Given the description of an element on the screen output the (x, y) to click on. 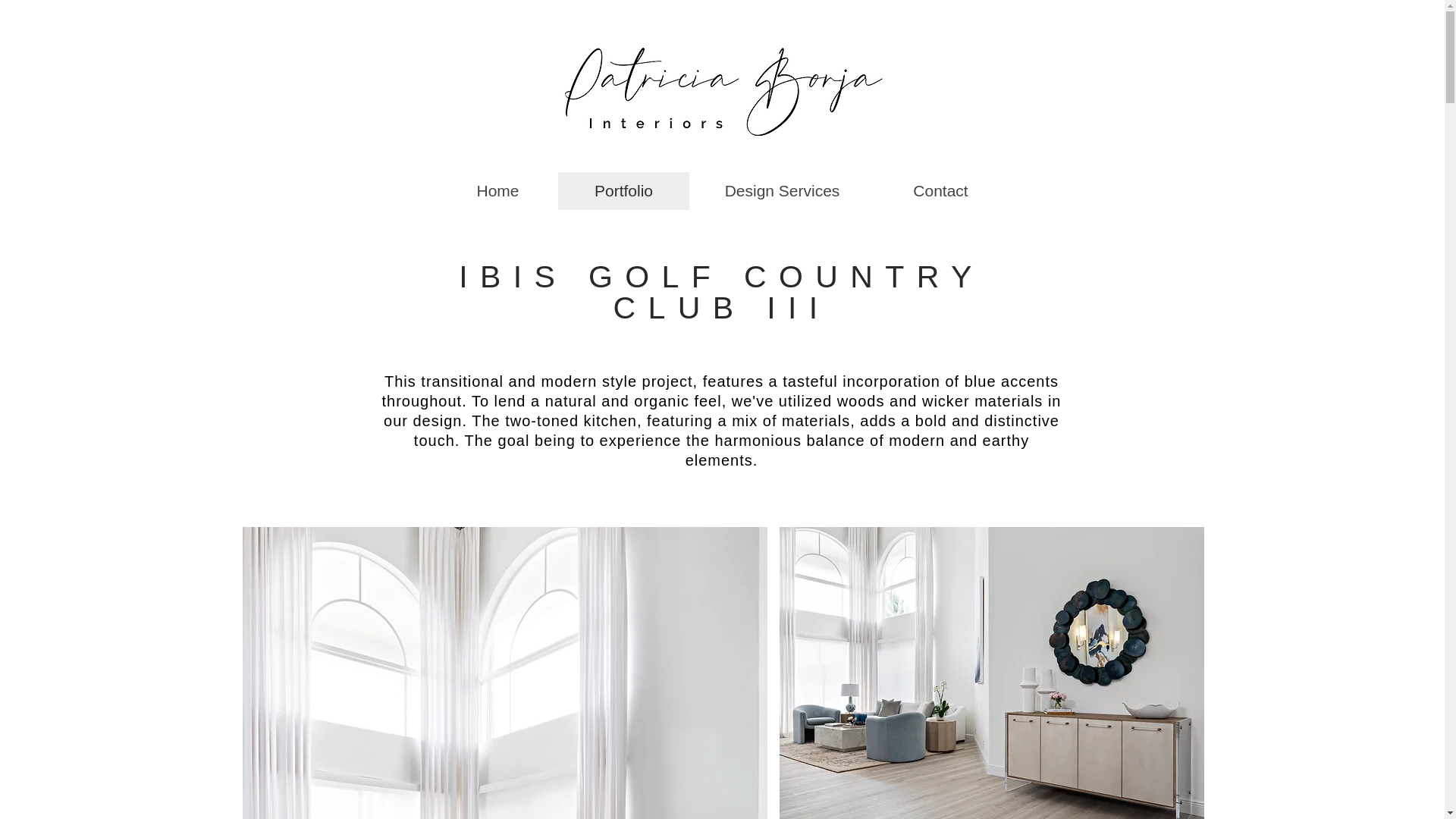
Home (497, 190)
Design Services (781, 190)
Portfolio (622, 190)
Contact (940, 190)
